Given the description of an element on the screen output the (x, y) to click on. 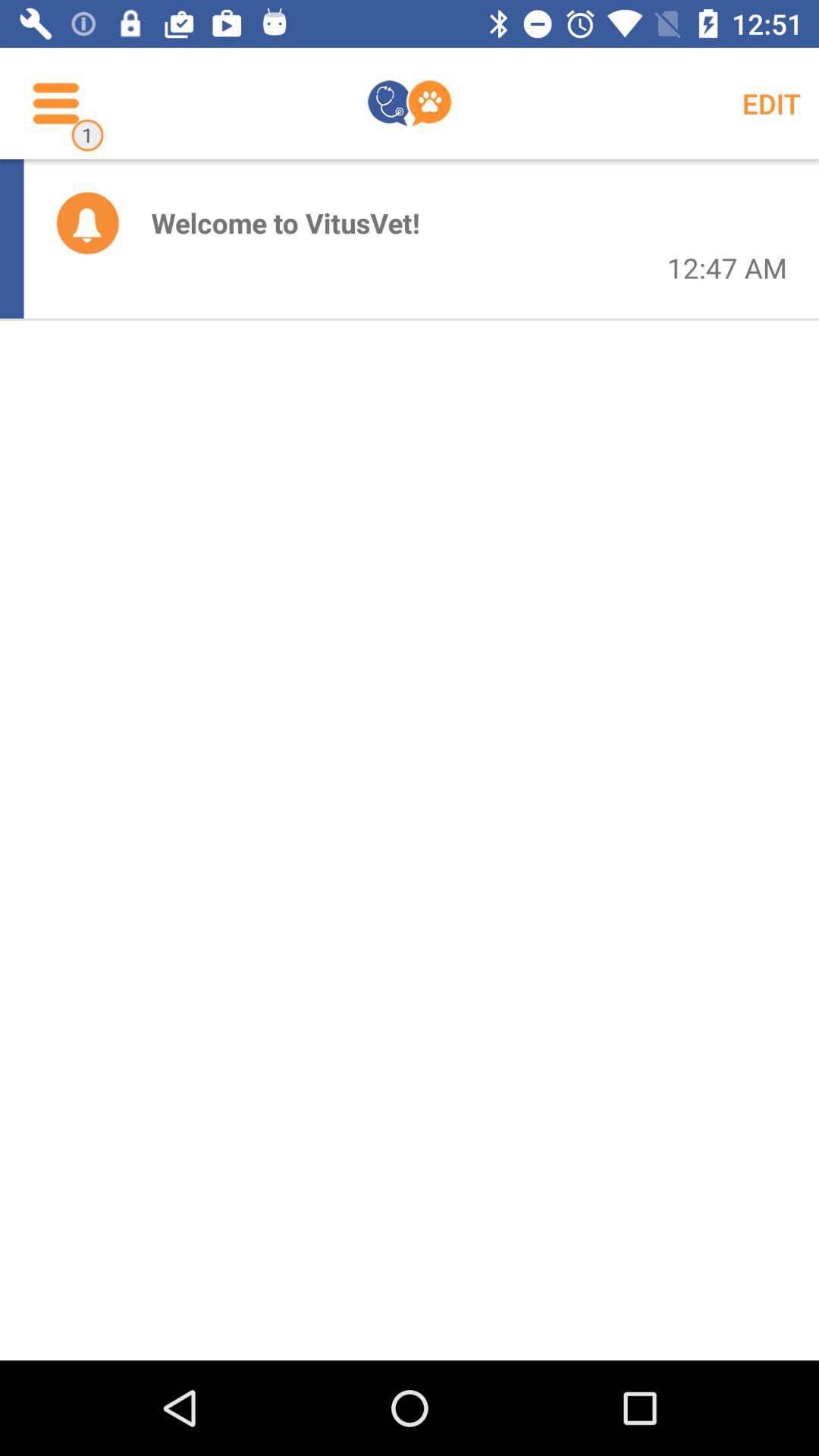
select the icon above the 12:47 am (771, 103)
